Given the description of an element on the screen output the (x, y) to click on. 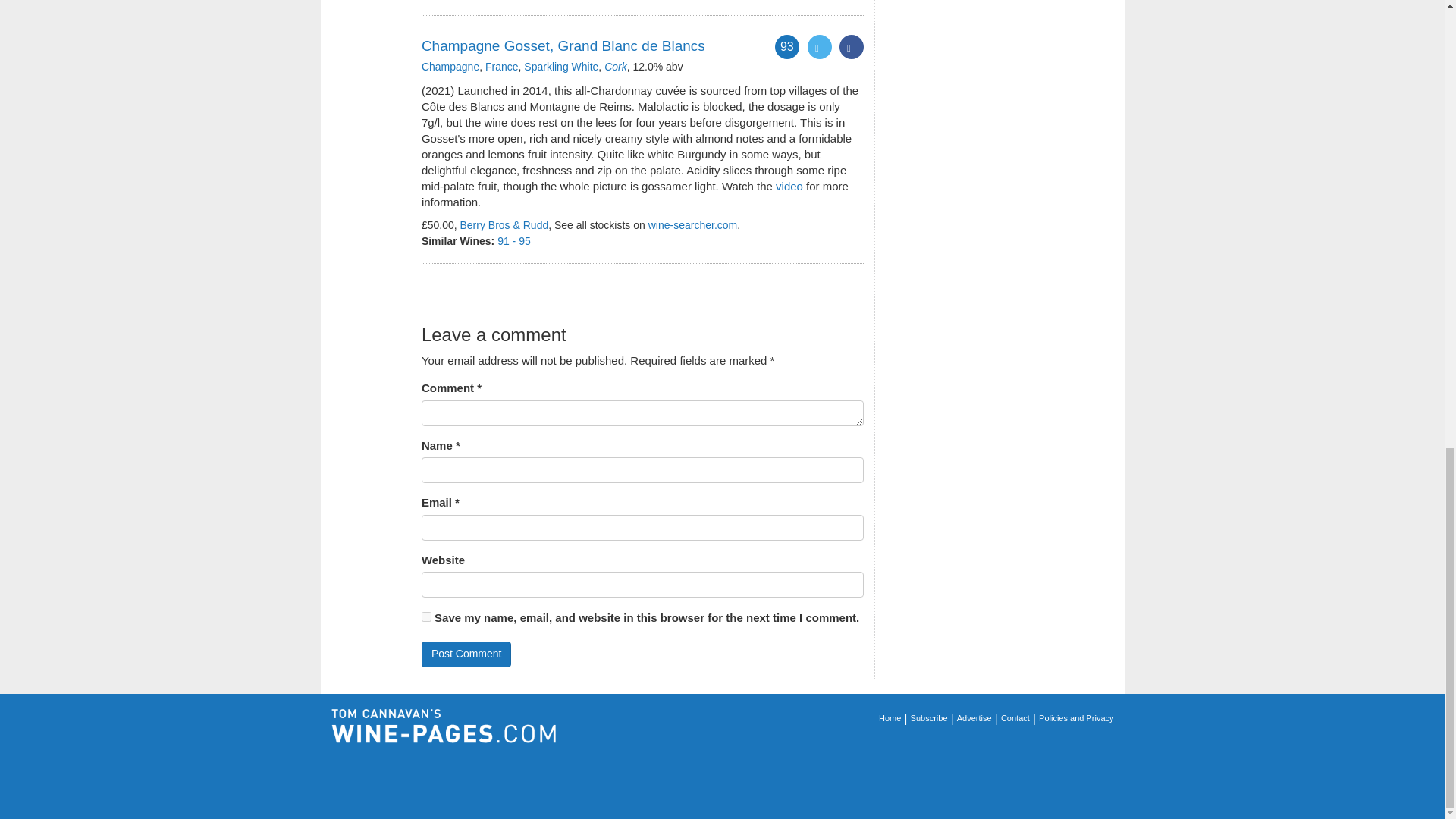
Post Comment (467, 654)
yes (426, 616)
Share on Facebook (851, 46)
Tweet on Twitter (819, 46)
